Given the description of an element on the screen output the (x, y) to click on. 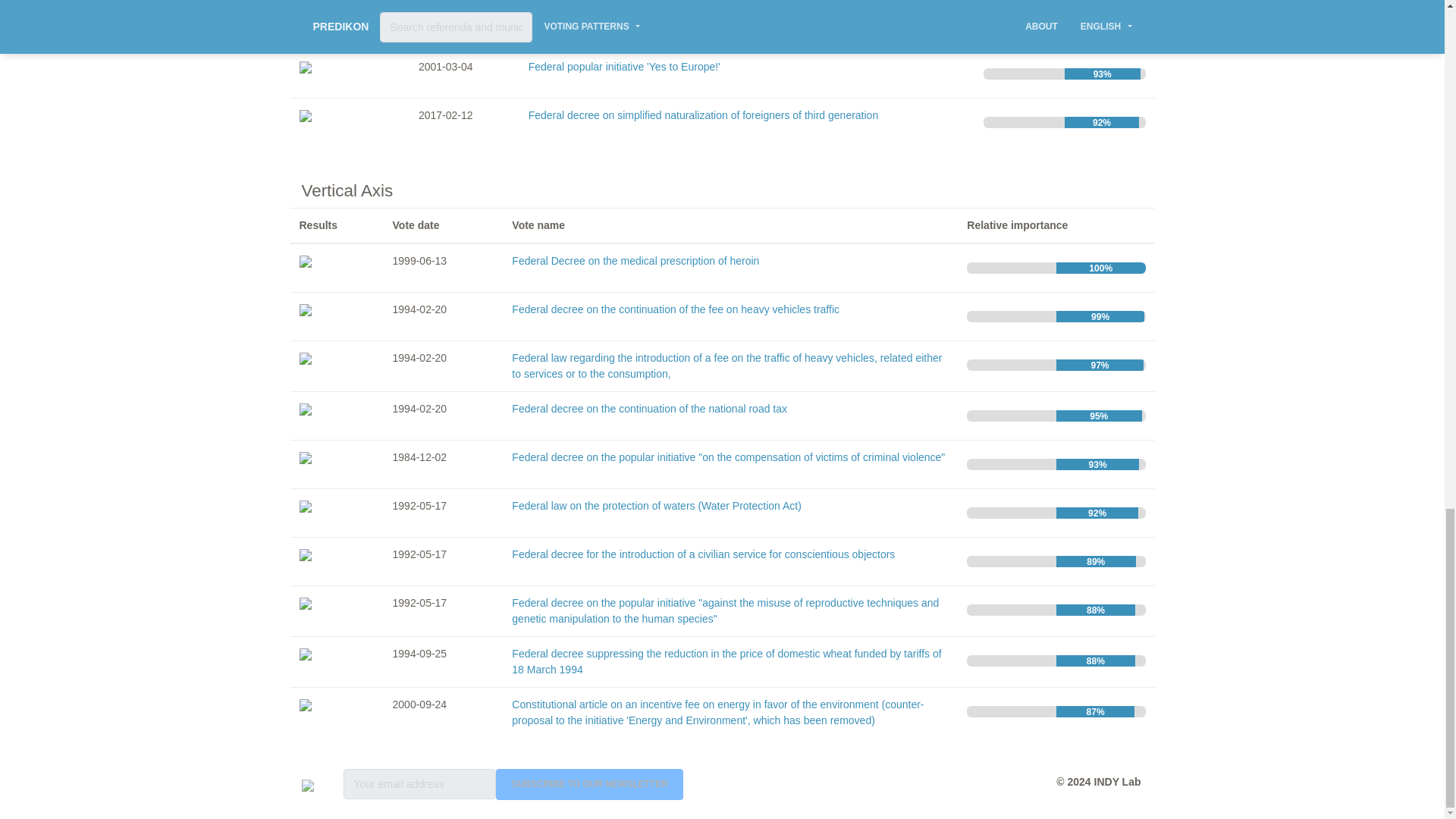
Federal Decree on the medical prescription of heroin (635, 260)
Federal popular initiative 'Yes to Europe!' (624, 66)
